Given the description of an element on the screen output the (x, y) to click on. 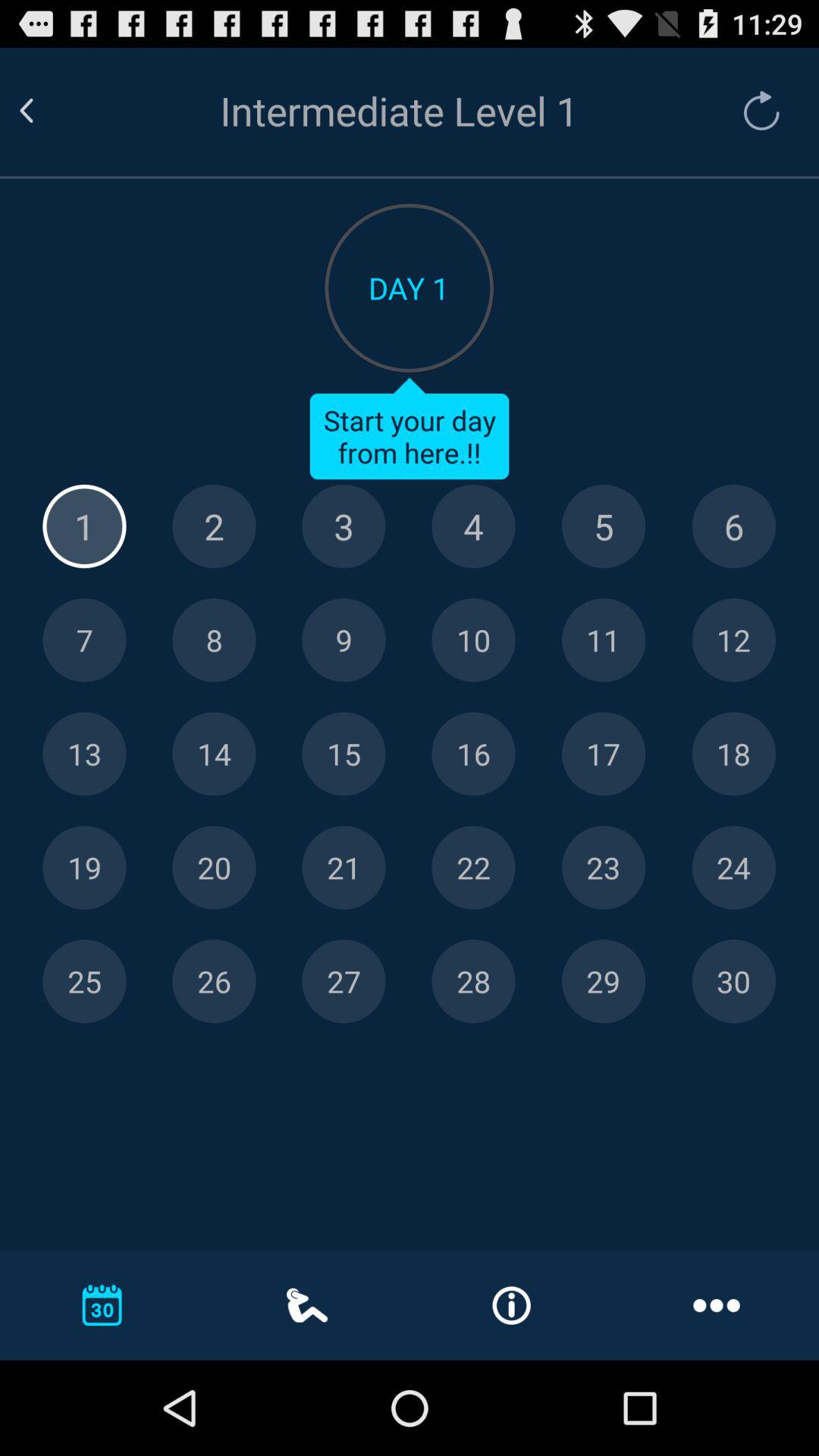
day 13 option (84, 753)
